Given the description of an element on the screen output the (x, y) to click on. 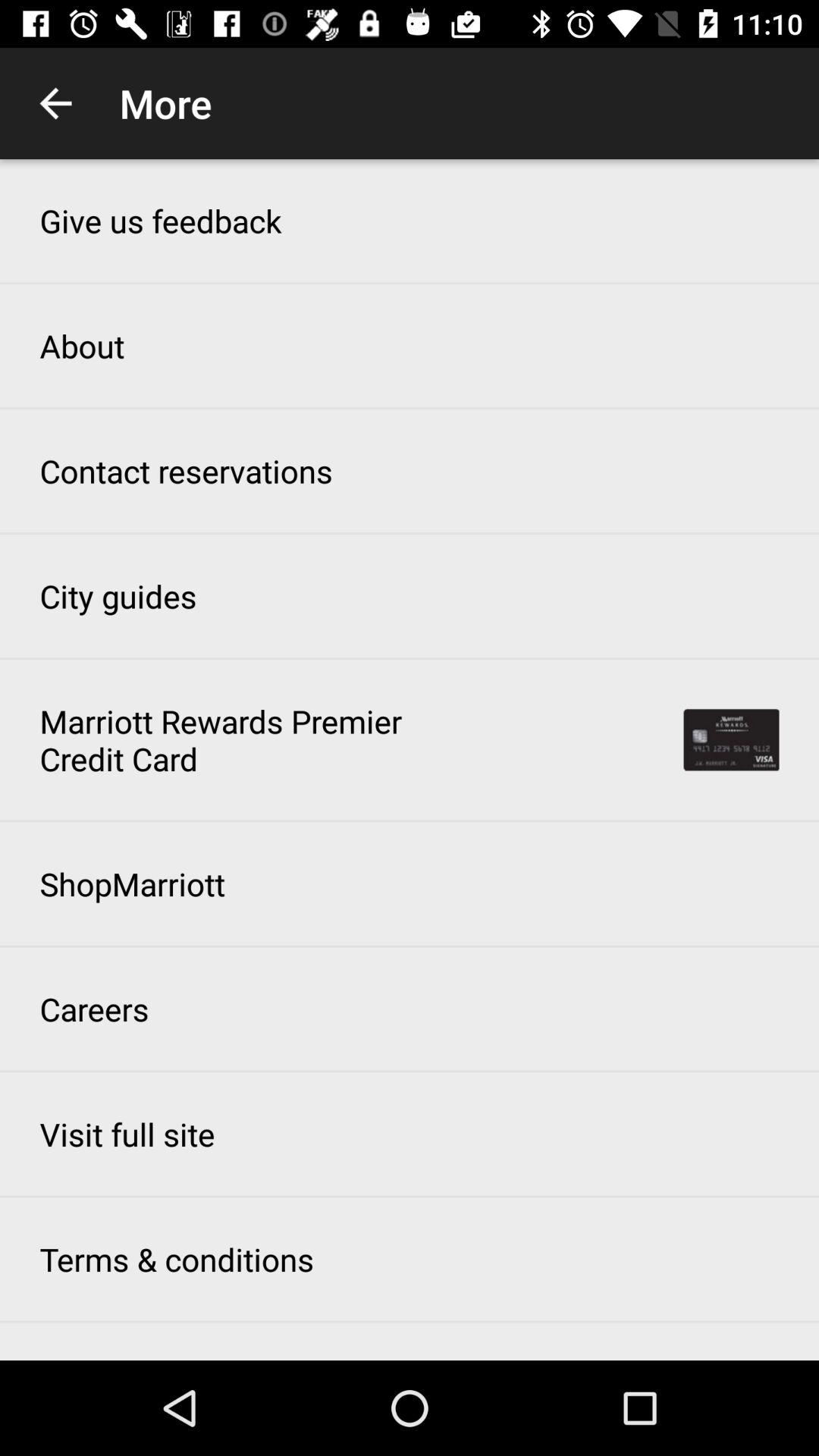
click the item above marriott rewards premier icon (117, 595)
